Given the description of an element on the screen output the (x, y) to click on. 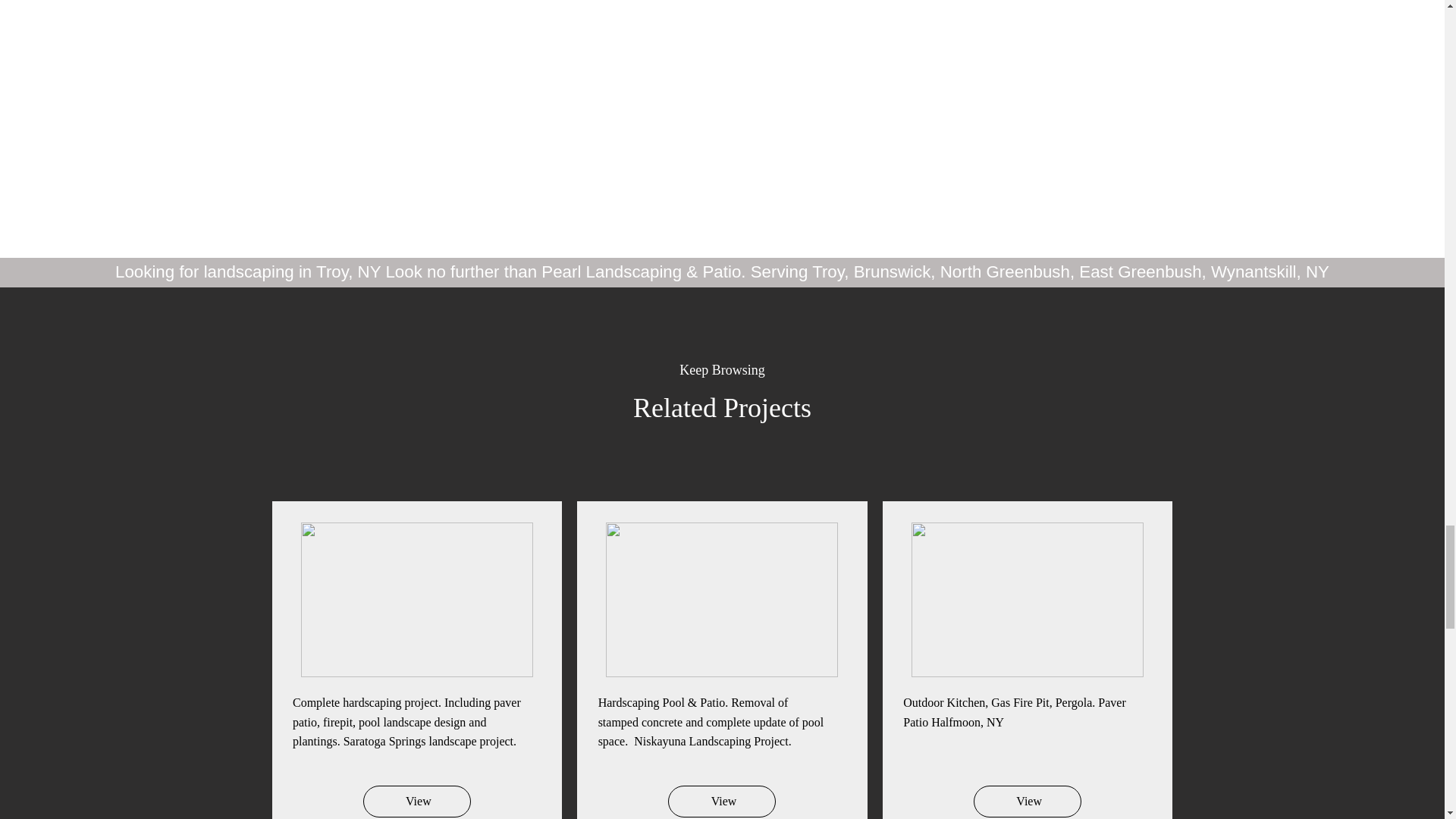
View (722, 801)
View (1027, 801)
Outdoor  (924, 702)
View (416, 801)
